Given the description of an element on the screen output the (x, y) to click on. 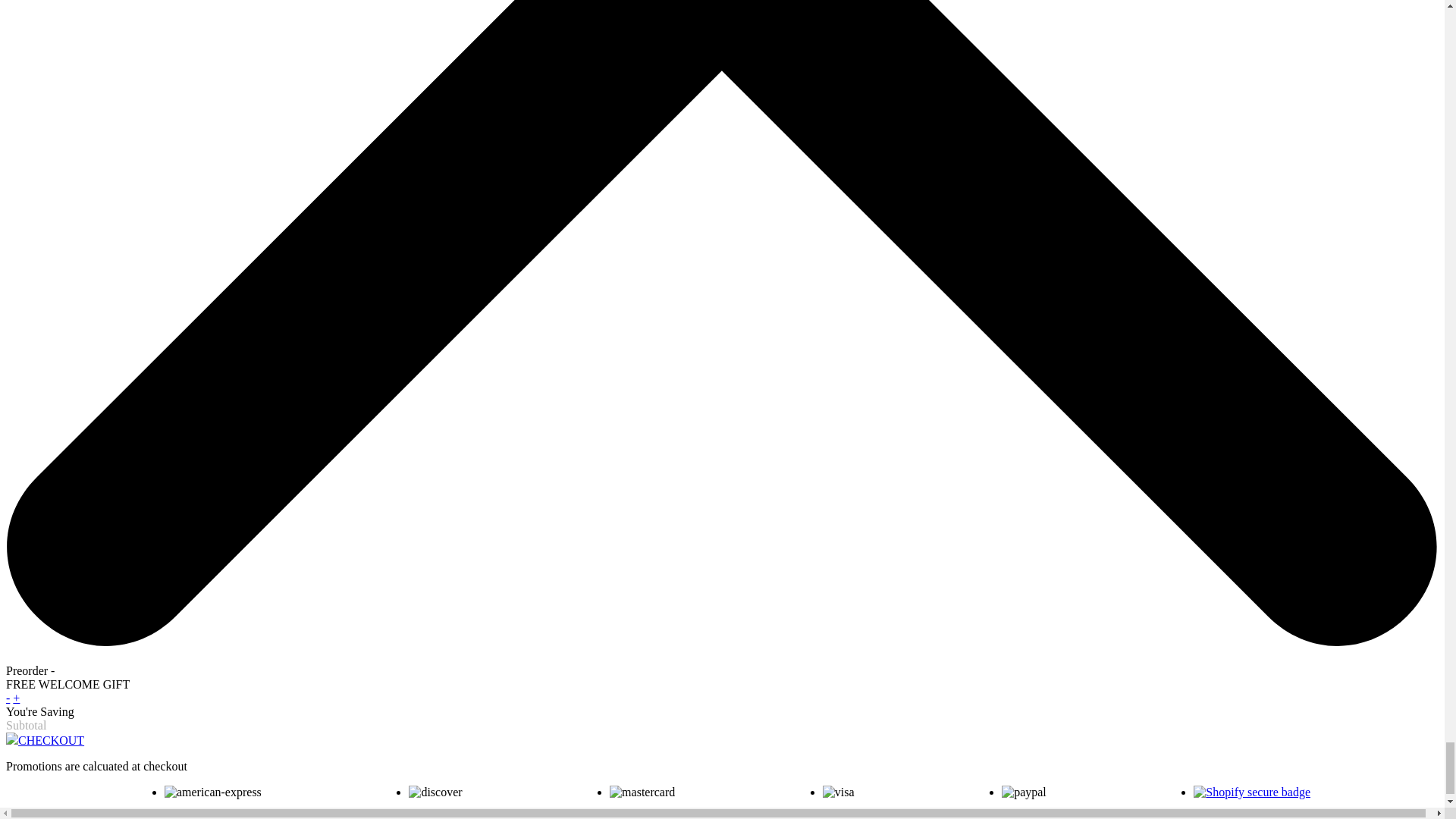
This online store is secured by Shopify (1251, 791)
